Given the description of an element on the screen output the (x, y) to click on. 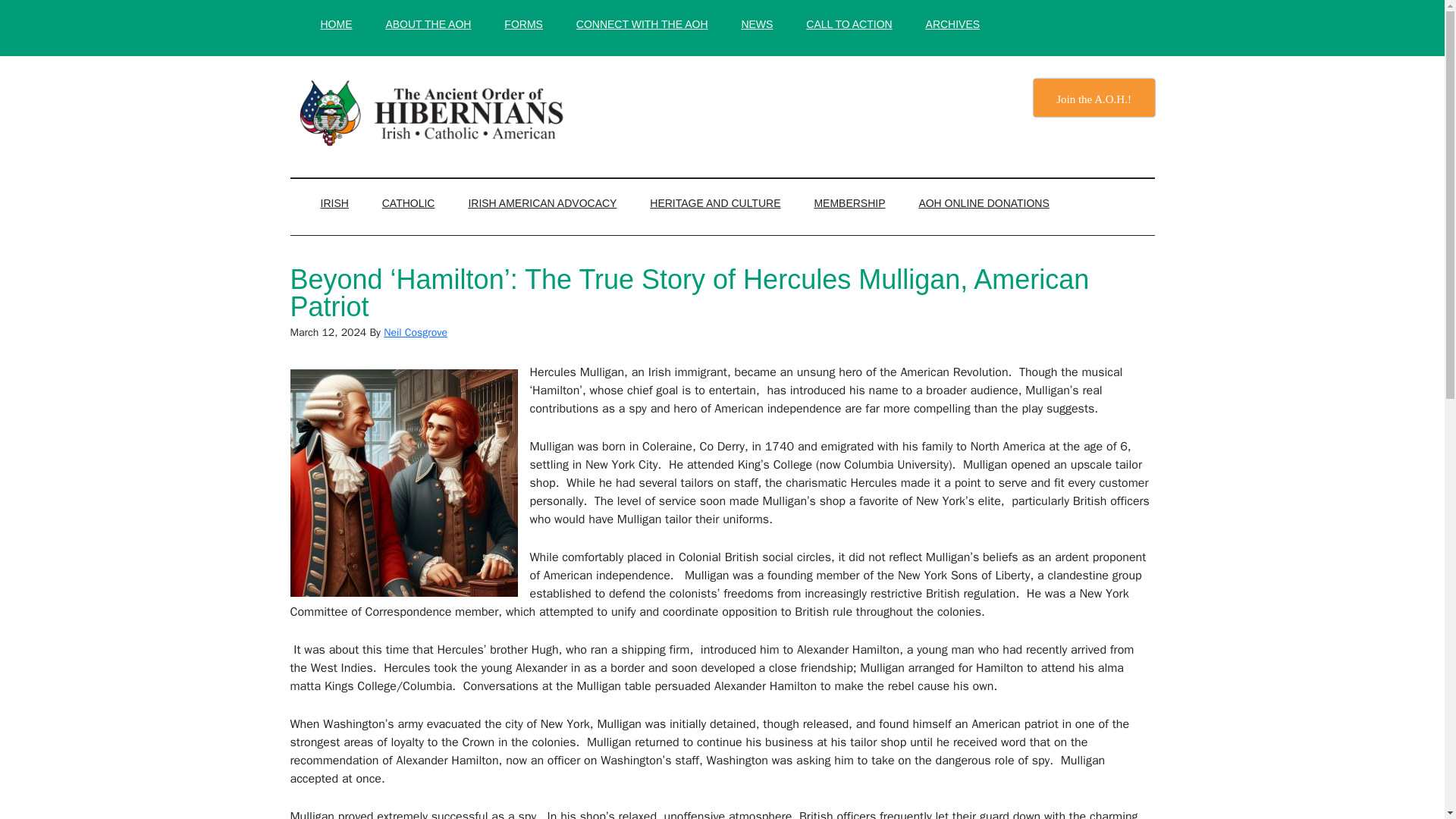
ABOUT THE AOH (427, 24)
FORMS (523, 24)
CONNECT WITH THE AOH (641, 24)
HOME (335, 24)
